Given the description of an element on the screen output the (x, y) to click on. 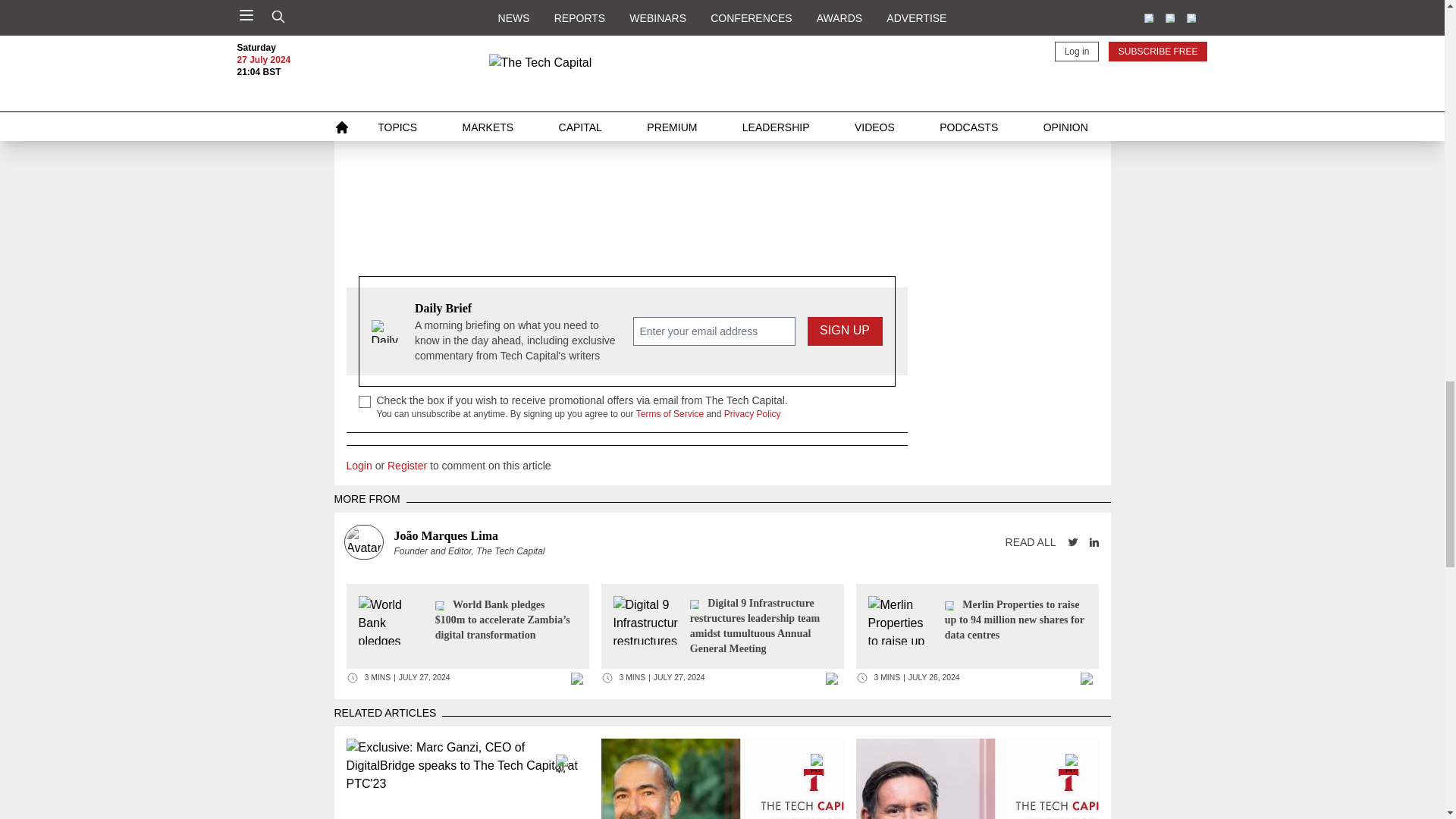
1 (363, 401)
